Given the description of an element on the screen output the (x, y) to click on. 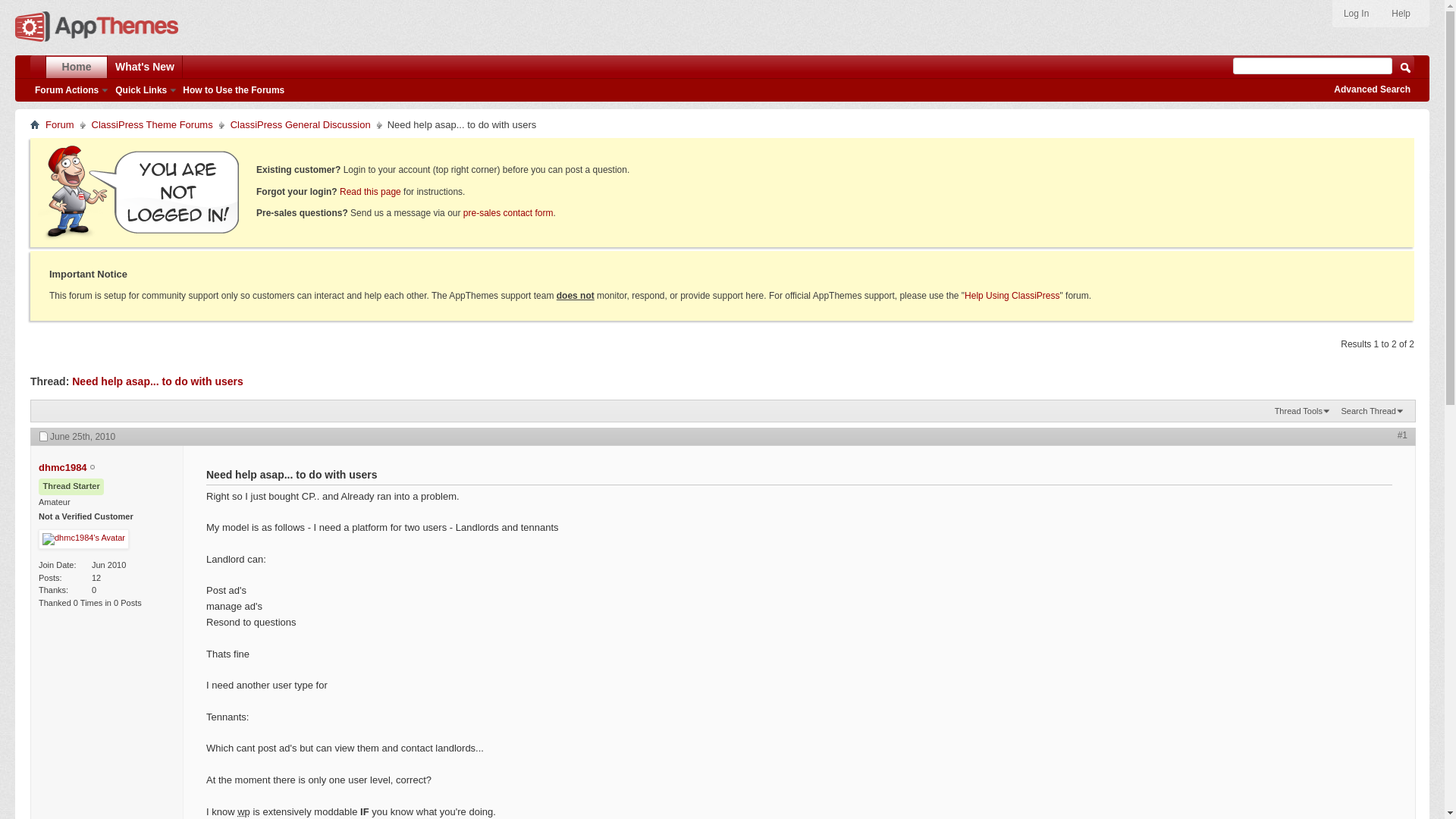
Advanced Search (1371, 89)
dhmc1984 (63, 467)
Search Thread (1372, 410)
Thread Tools (1302, 410)
You are not logged in (140, 190)
Need help asap... to do with users (157, 381)
Home (76, 65)
Quick Links (144, 89)
ClassiPress General Discussion (300, 125)
pre-sales contact form (508, 213)
dhmc1984 is offline (84, 538)
How to Use the Forums (233, 90)
dhmc1984 is offline (63, 467)
Home (34, 123)
dhmc1984 is offline (92, 468)
